Given the description of an element on the screen output the (x, y) to click on. 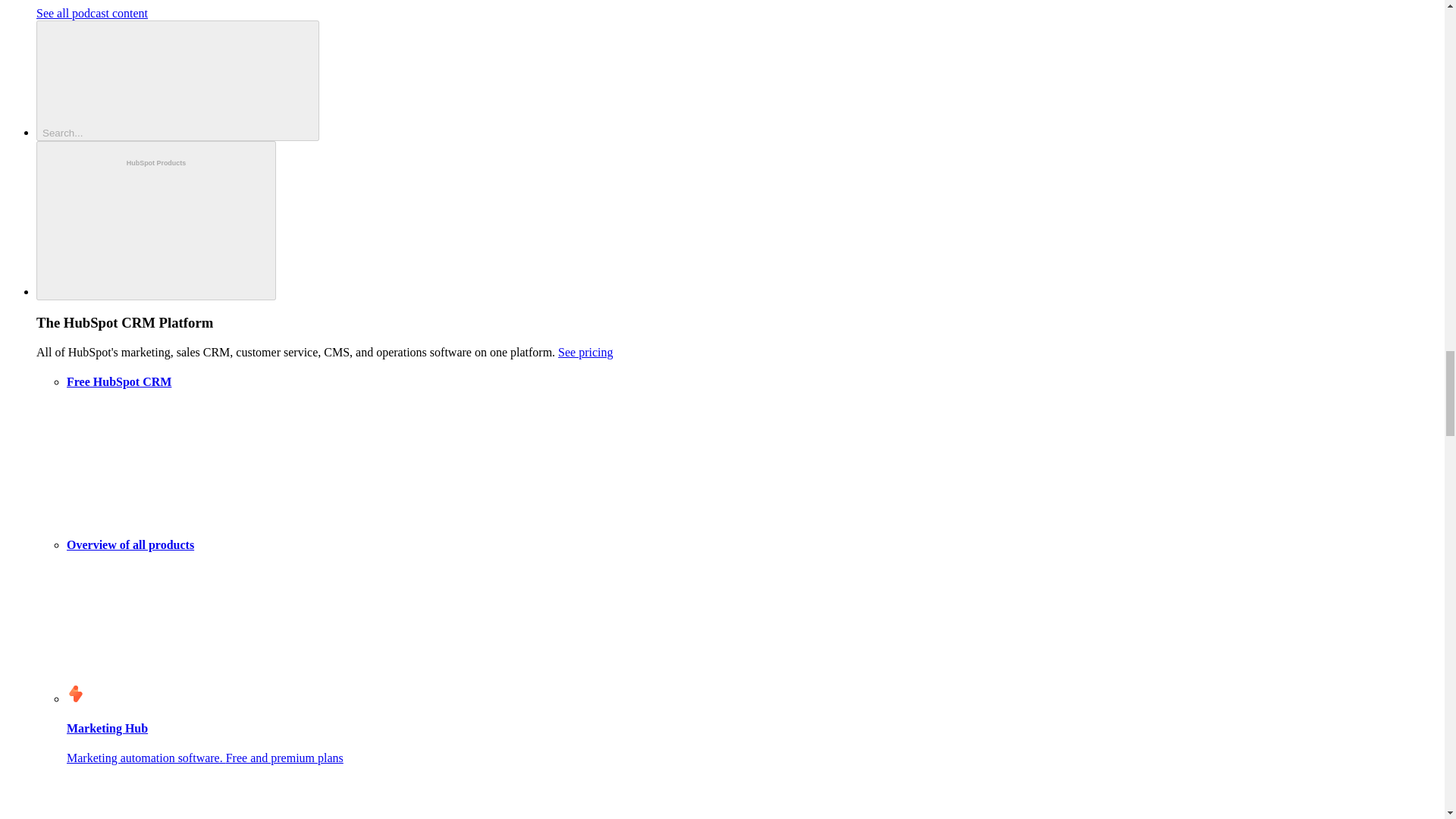
Search... (177, 80)
HubSpot Products (156, 220)
See pricing (584, 351)
See all podcast content (92, 12)
